Given the description of an element on the screen output the (x, y) to click on. 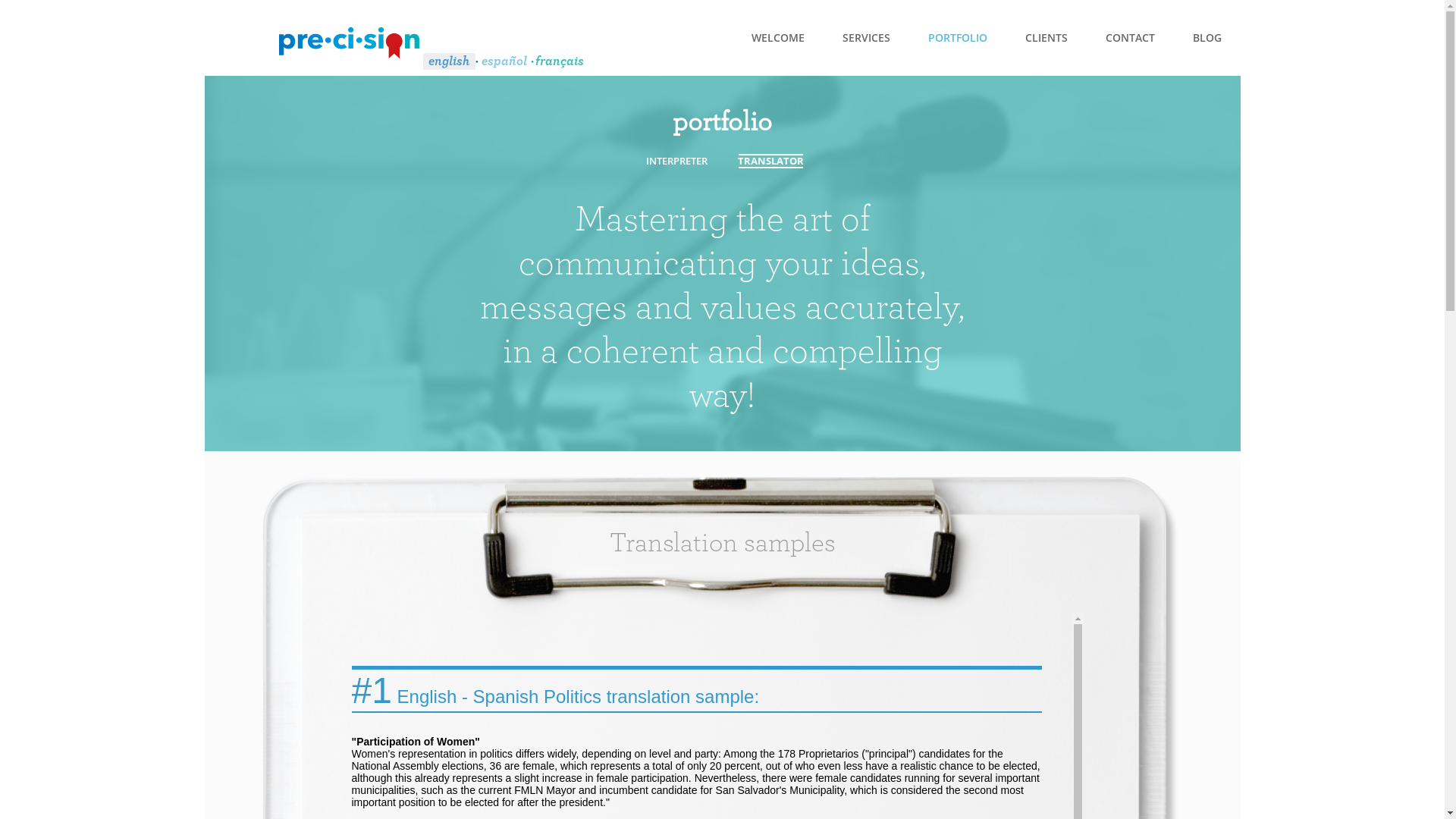
CONTACT Element type: text (1129, 37)
WELCOME Element type: text (777, 37)
INTERPRETER Element type: text (676, 160)
CLIENTS Element type: text (1045, 37)
BLOG Element type: text (1206, 37)
TRANSLATOR Element type: text (770, 160)
english Element type: text (449, 62)
PORTFOLIO Element type: text (956, 37)
SERVICES Element type: text (866, 37)
